Given the description of an element on the screen output the (x, y) to click on. 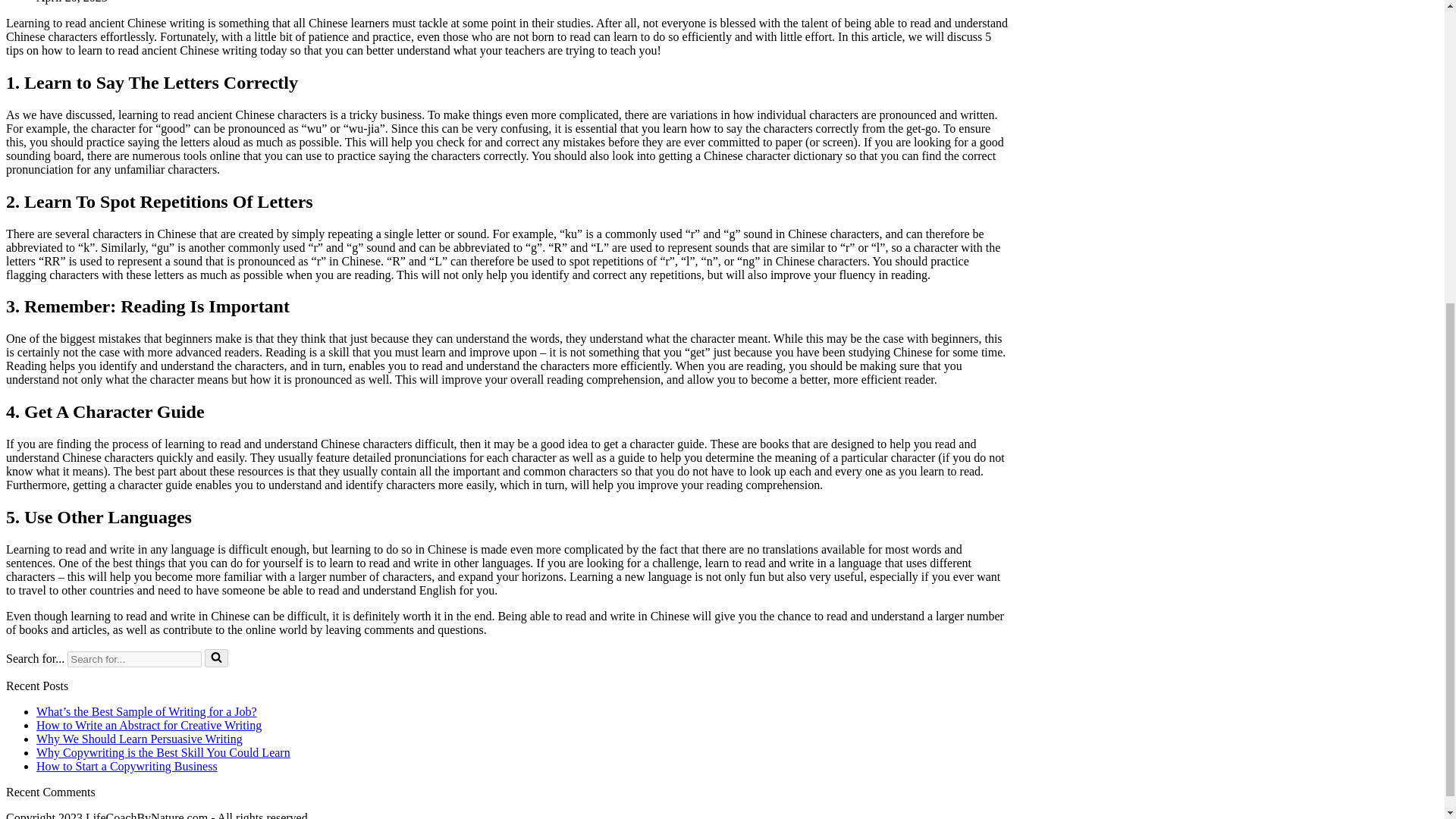
Why We Should Learn Persuasive Writing (139, 738)
How to Start a Copywriting Business (126, 766)
How to Write an Abstract for Creative Writing (149, 725)
Why Copywriting is the Best Skill You Could Learn (162, 752)
